Given the description of an element on the screen output the (x, y) to click on. 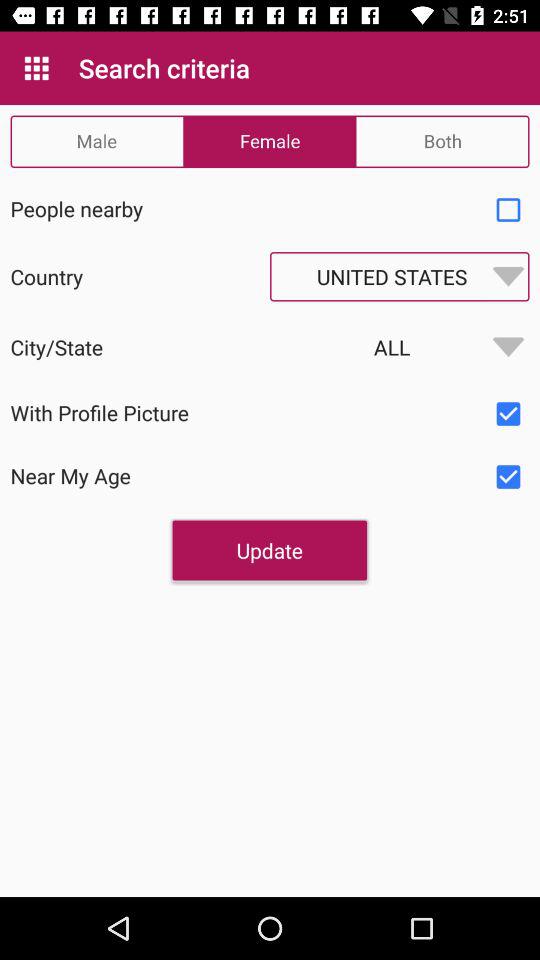
tap item above united states (508, 209)
